Given the description of an element on the screen output the (x, y) to click on. 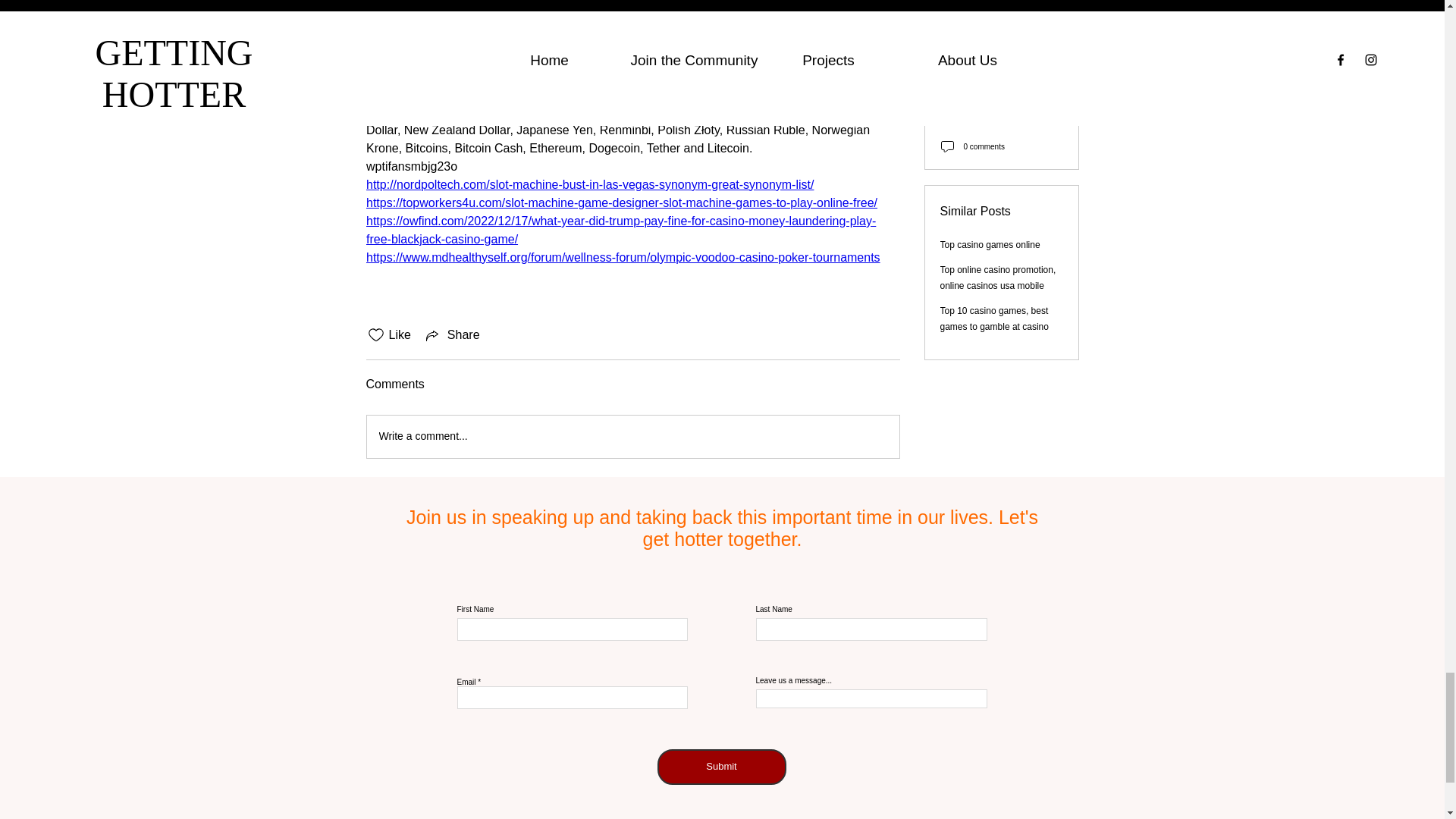
Share (451, 334)
Write a comment... (632, 436)
Submit (721, 766)
